Given the description of an element on the screen output the (x, y) to click on. 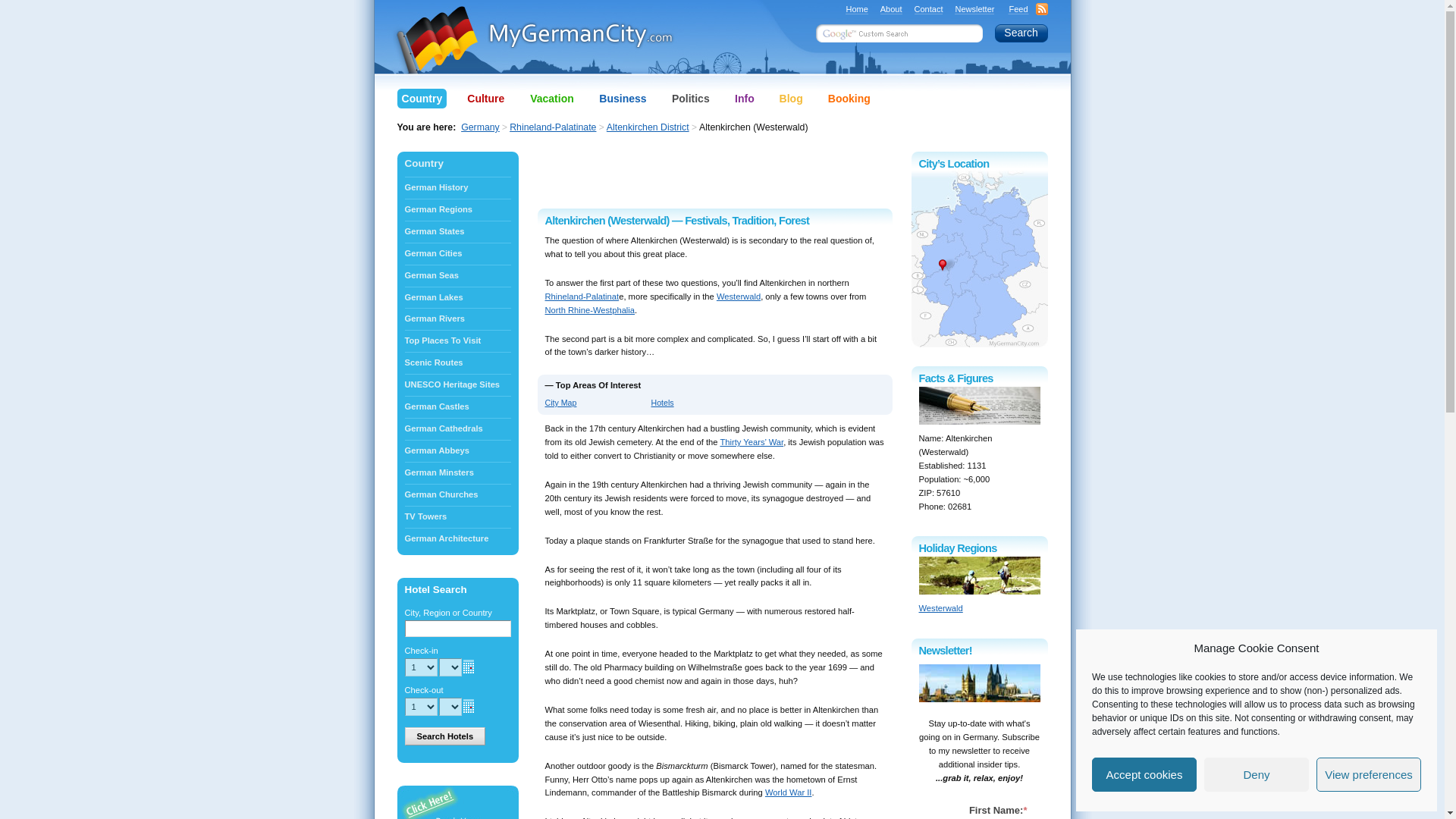
German History (457, 187)
Deny (1256, 774)
German Cities (457, 253)
Westerwald (738, 296)
Top Places To Visit (457, 341)
North Rhine-Westphalia (589, 309)
Scenic Routes (457, 362)
German Lakes (457, 297)
UNESCO Heritage Sites (457, 384)
German States (457, 231)
